Given the description of an element on the screen output the (x, y) to click on. 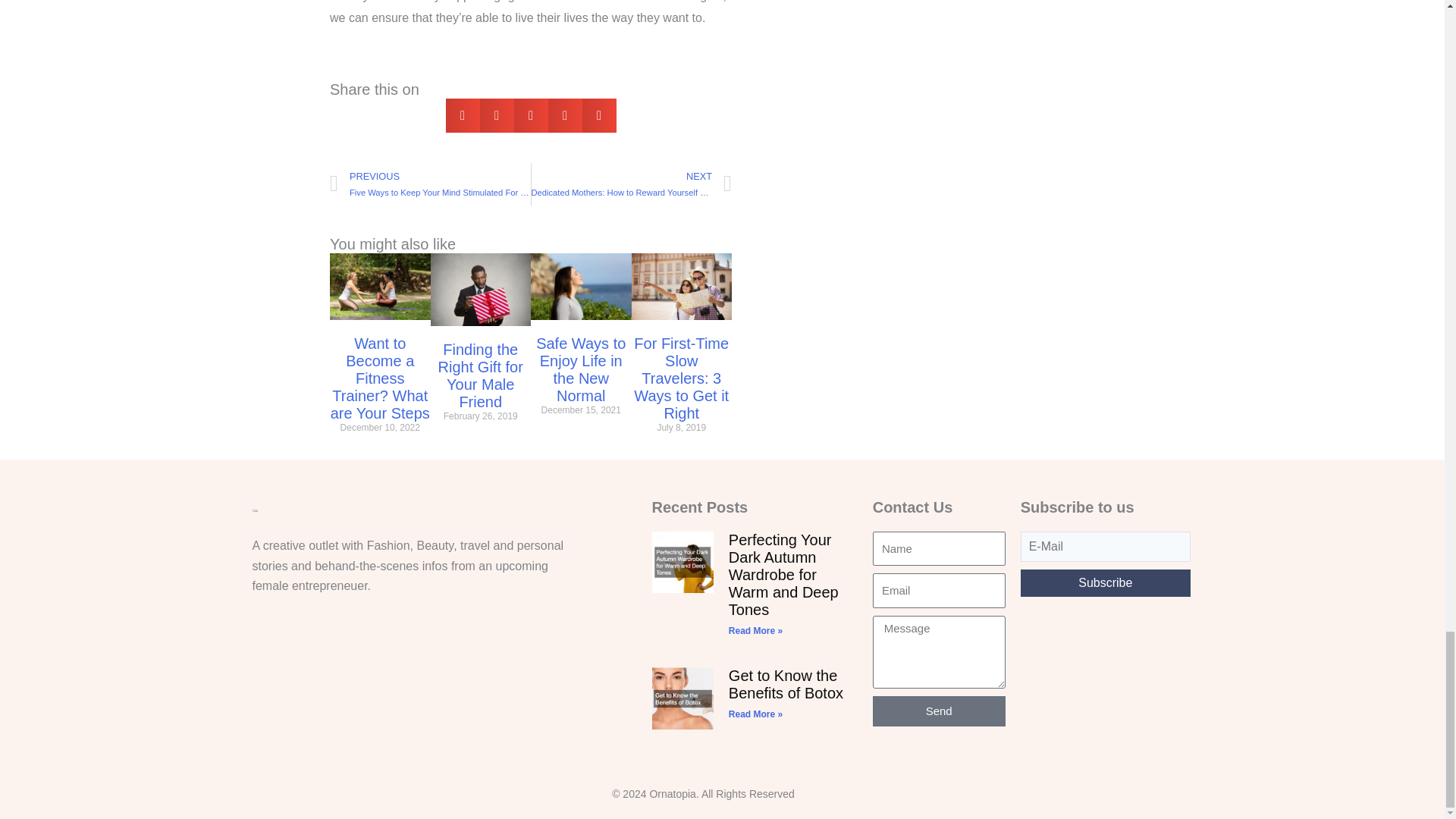
Safe Ways to Enjoy Life in the New Normal (580, 369)
Want to Become a Fitness Trainer? What are Your Steps (379, 377)
For First-Time Slow Travelers: 3 Ways to Get it Right (681, 377)
Finding the Right Gift for Your Male Friend (480, 375)
